Given the description of an element on the screen output the (x, y) to click on. 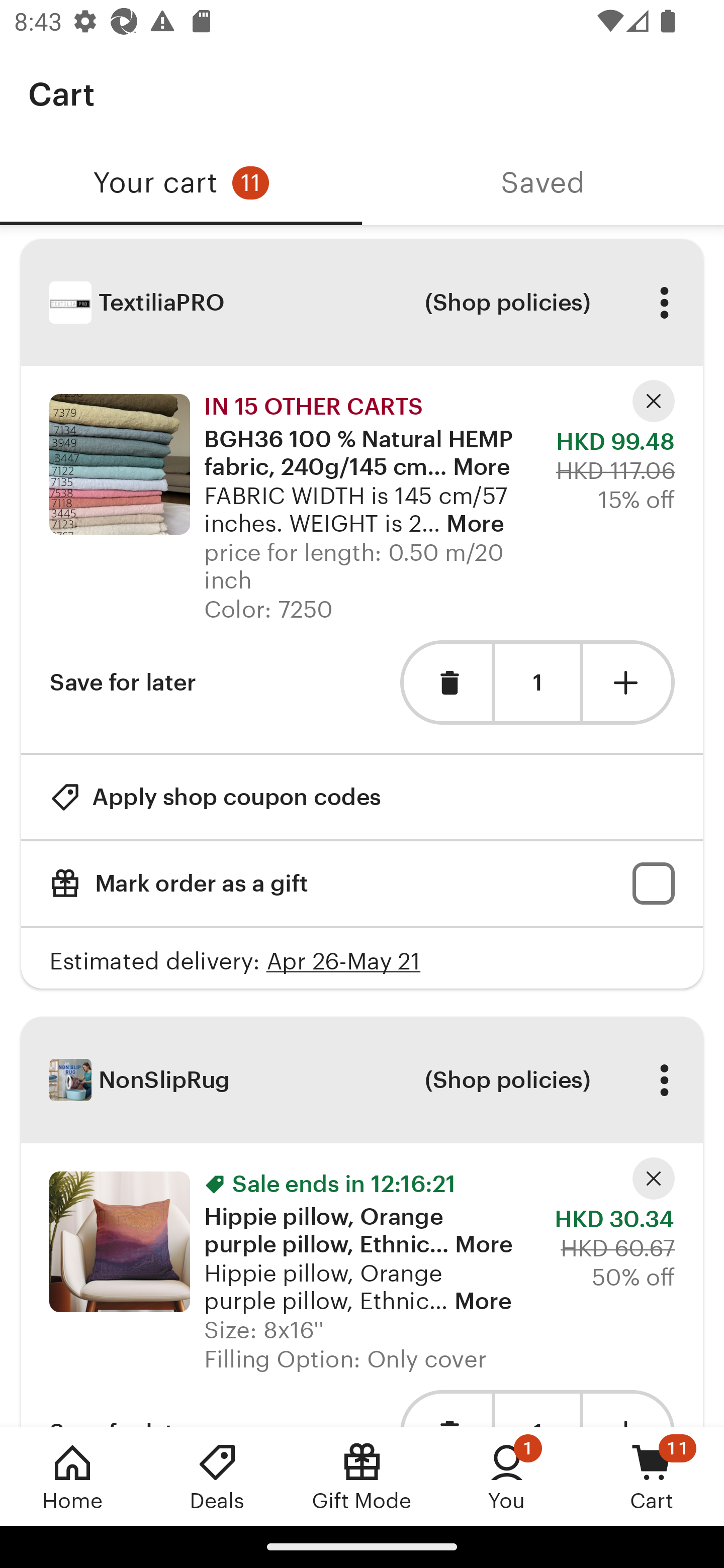
Saved, tab 2 of 2 Saved (543, 183)
TextiliaPRO (Shop policies) More options (361, 302)
(Shop policies) (507, 302)
More options (663, 302)
Save for later (122, 681)
Remove item from cart (445, 681)
Add one unit to cart (628, 681)
1 (537, 682)
Apply shop coupon codes (215, 796)
Mark order as a gift (361, 883)
NonSlipRug (Shop policies) More options (361, 1079)
(Shop policies) (507, 1080)
More options (663, 1080)
Home (72, 1475)
Deals (216, 1475)
Gift Mode (361, 1475)
You, 1 new notification You (506, 1475)
